Given the description of an element on the screen output the (x, y) to click on. 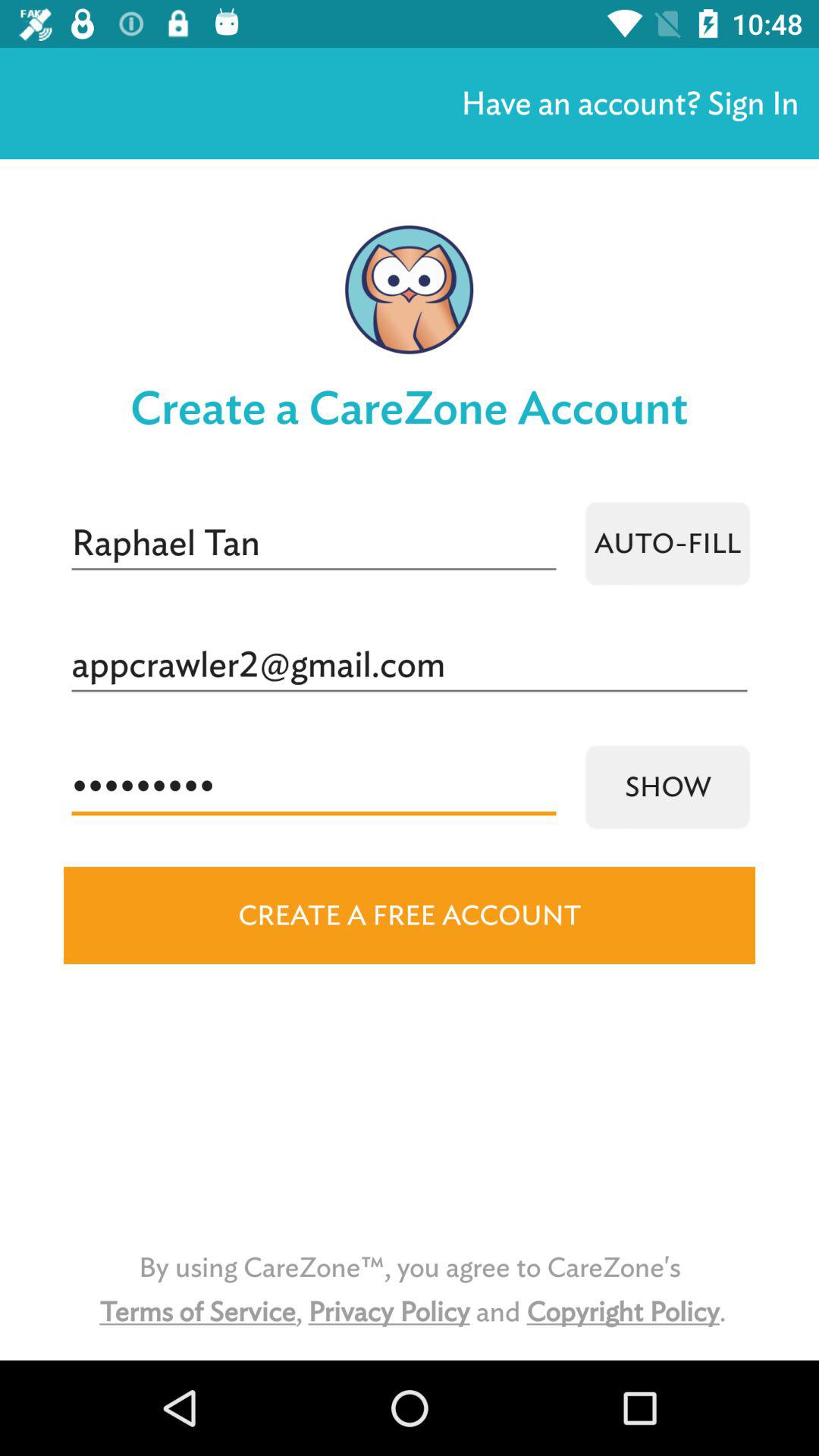
tap by using carezone (409, 1289)
